Given the description of an element on the screen output the (x, y) to click on. 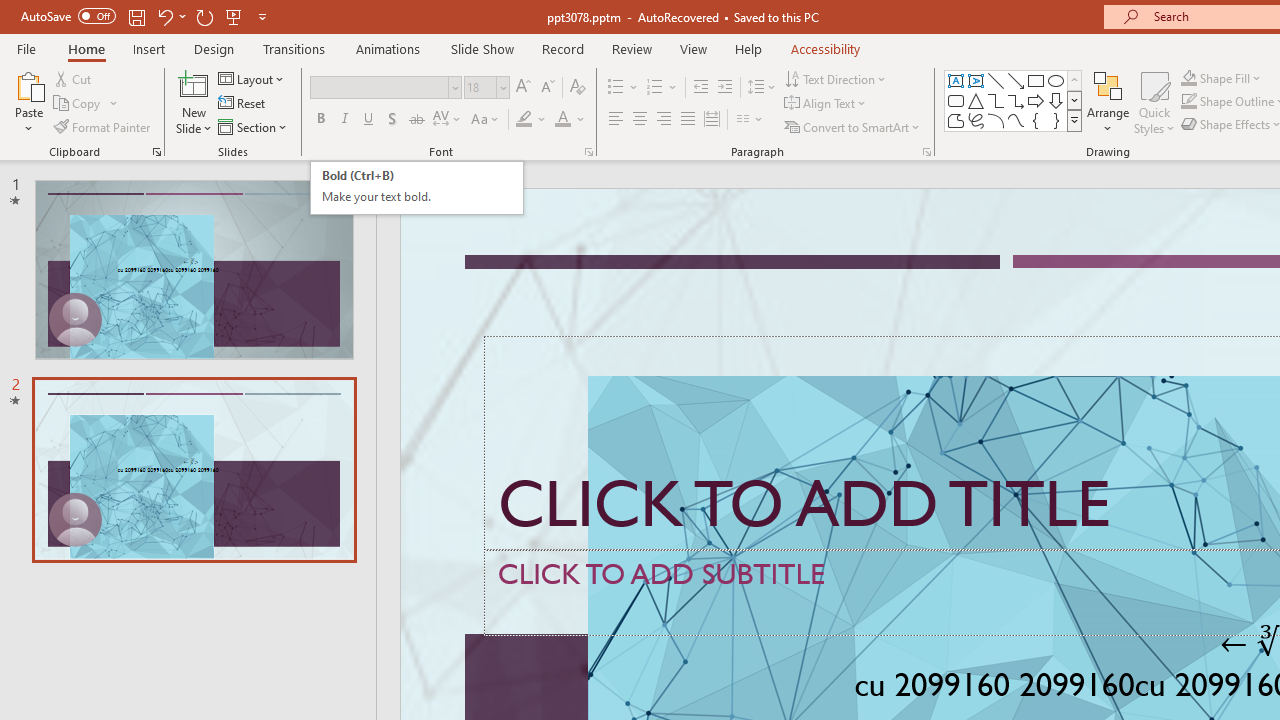
Font (385, 87)
Decrease Font Size (547, 87)
Character Spacing (447, 119)
Decrease Indent (700, 87)
Text Direction (836, 78)
Layout (252, 78)
Animations (388, 48)
Distributed (712, 119)
View (693, 48)
Row up (1074, 79)
Justify (687, 119)
Text Highlight Color Yellow (524, 119)
Oval (1055, 80)
Class: NetUIImage (1075, 120)
Quick Styles (1154, 102)
